Given the description of an element on the screen output the (x, y) to click on. 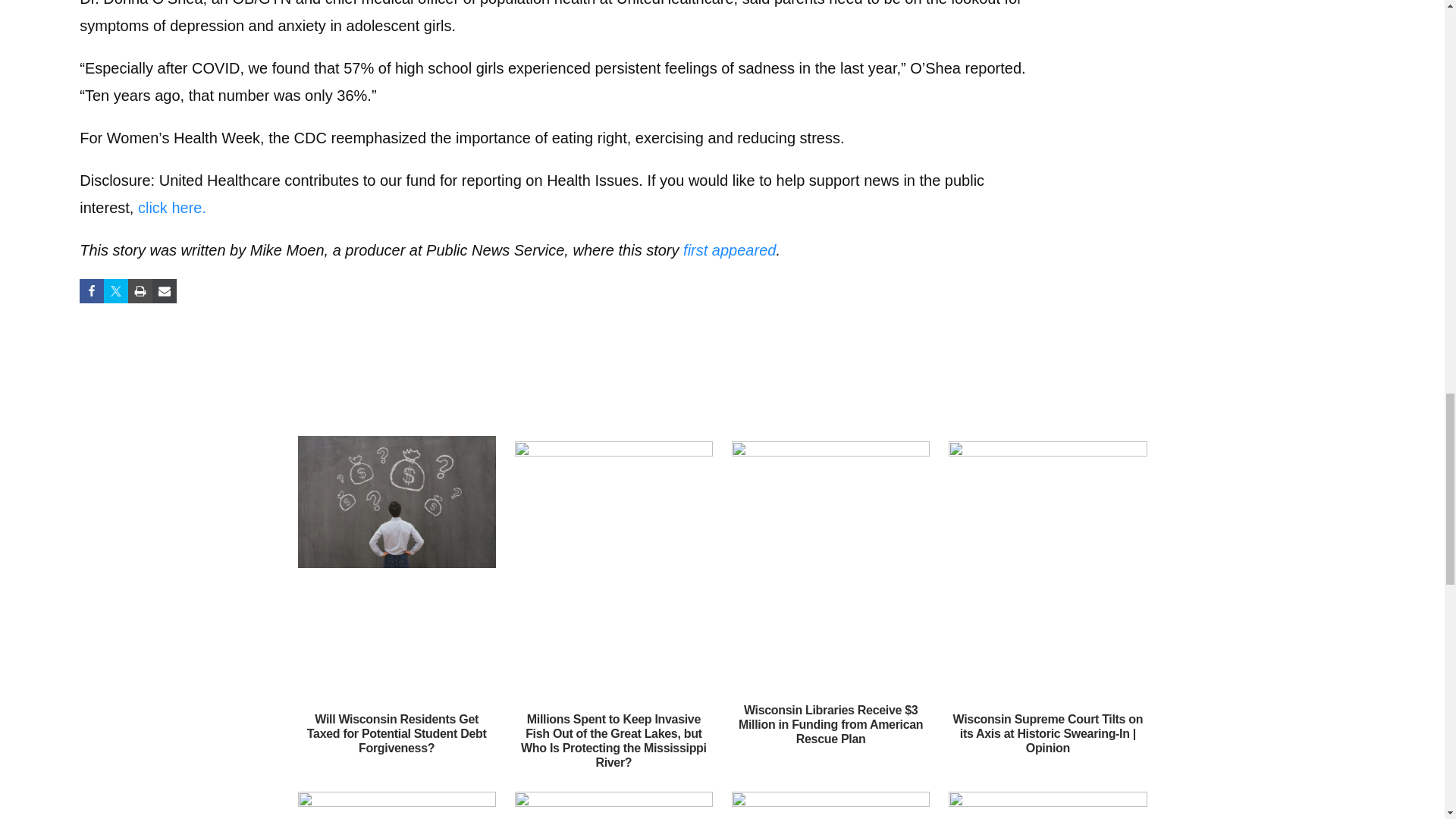
click here. (172, 207)
Share on Facebook (91, 291)
Share via Email (164, 291)
Print this Page (140, 291)
first appeared (729, 249)
Share on Twitter (115, 291)
